Given the description of an element on the screen output the (x, y) to click on. 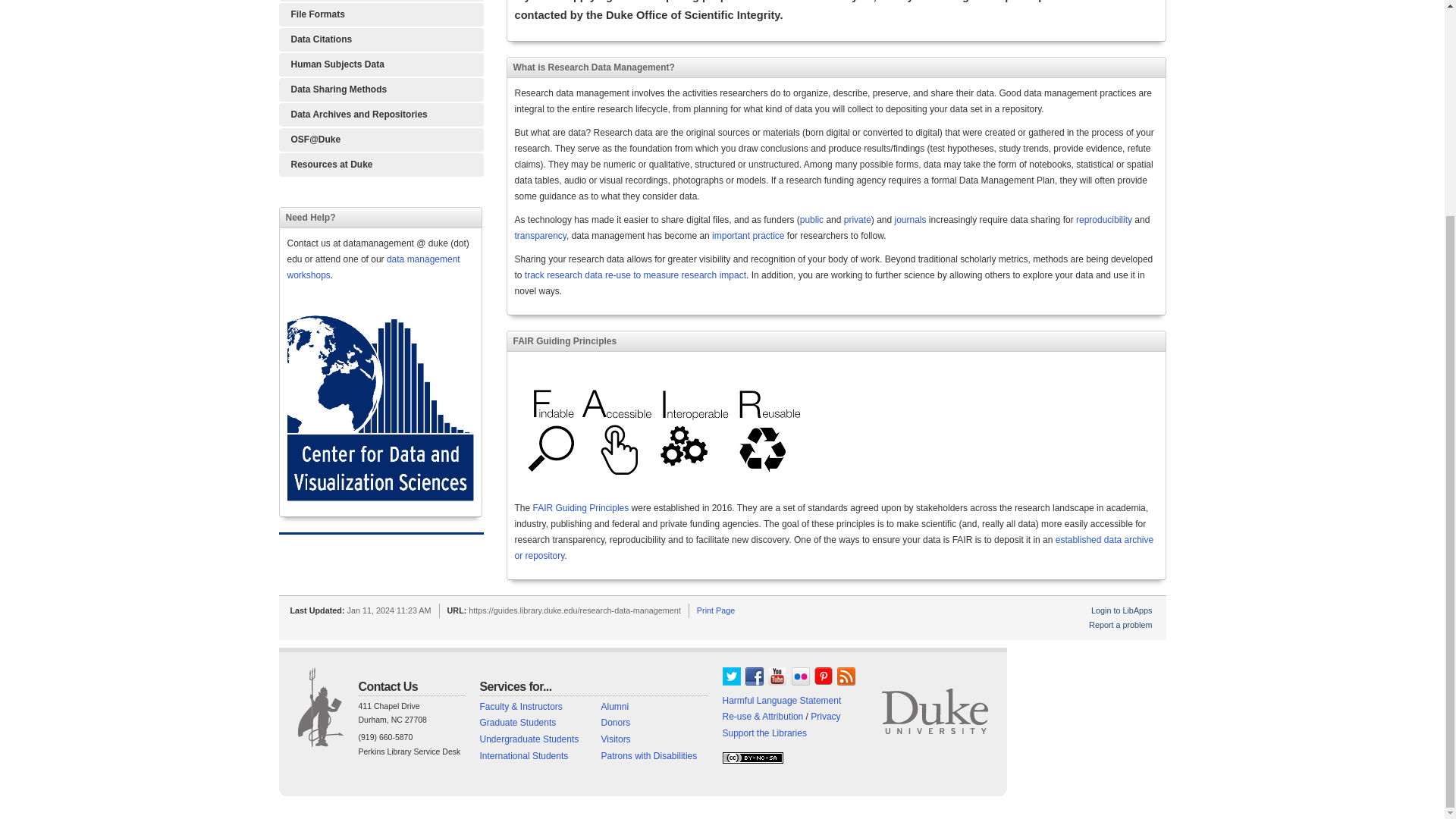
Working with the Open Science Framework at Duke (381, 139)
Information about depositing data into the DDR (381, 114)
